Given the description of an element on the screen output the (x, y) to click on. 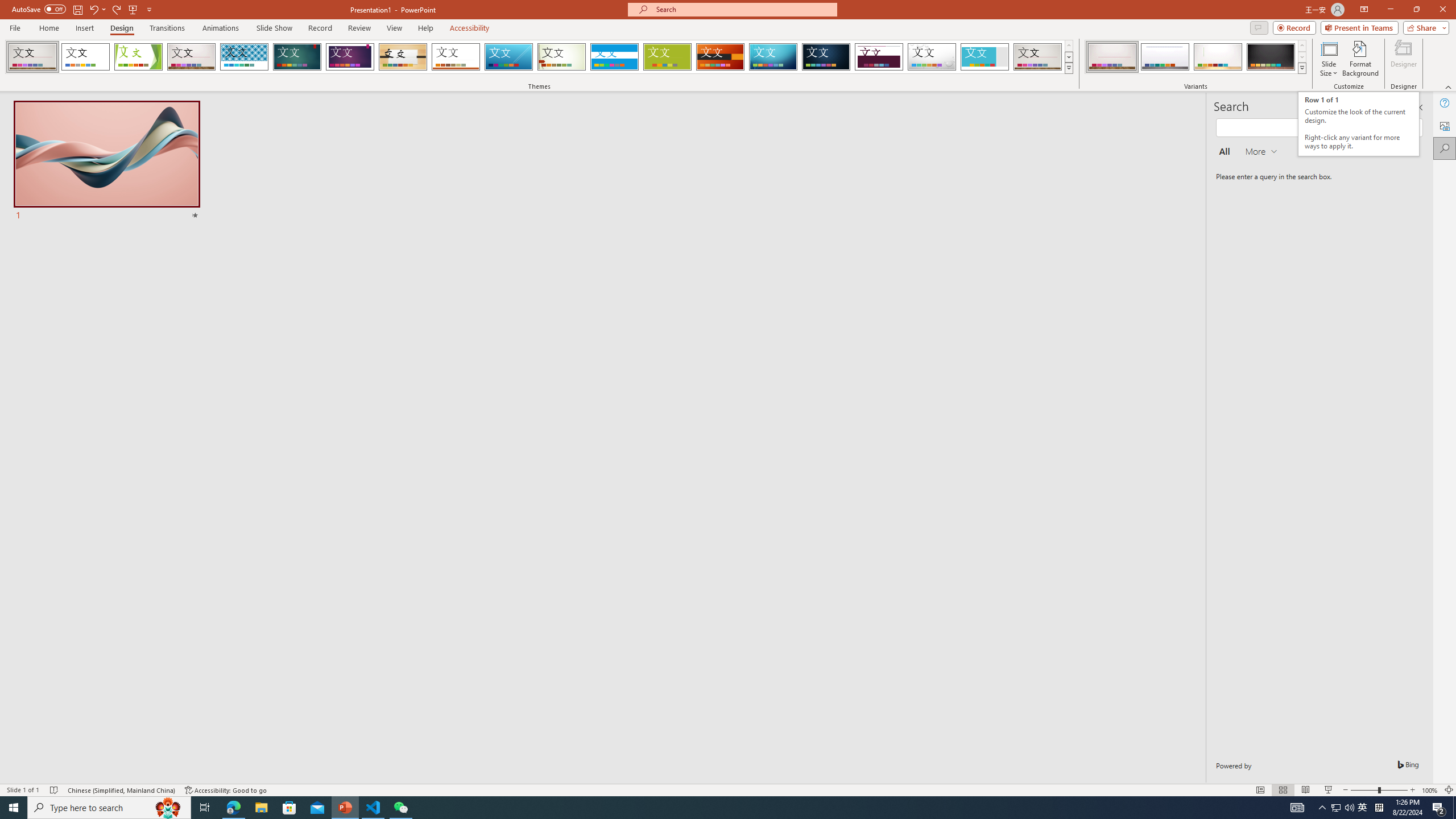
Basis (667, 56)
Ion (296, 56)
Damask (826, 56)
